Given the description of an element on the screen output the (x, y) to click on. 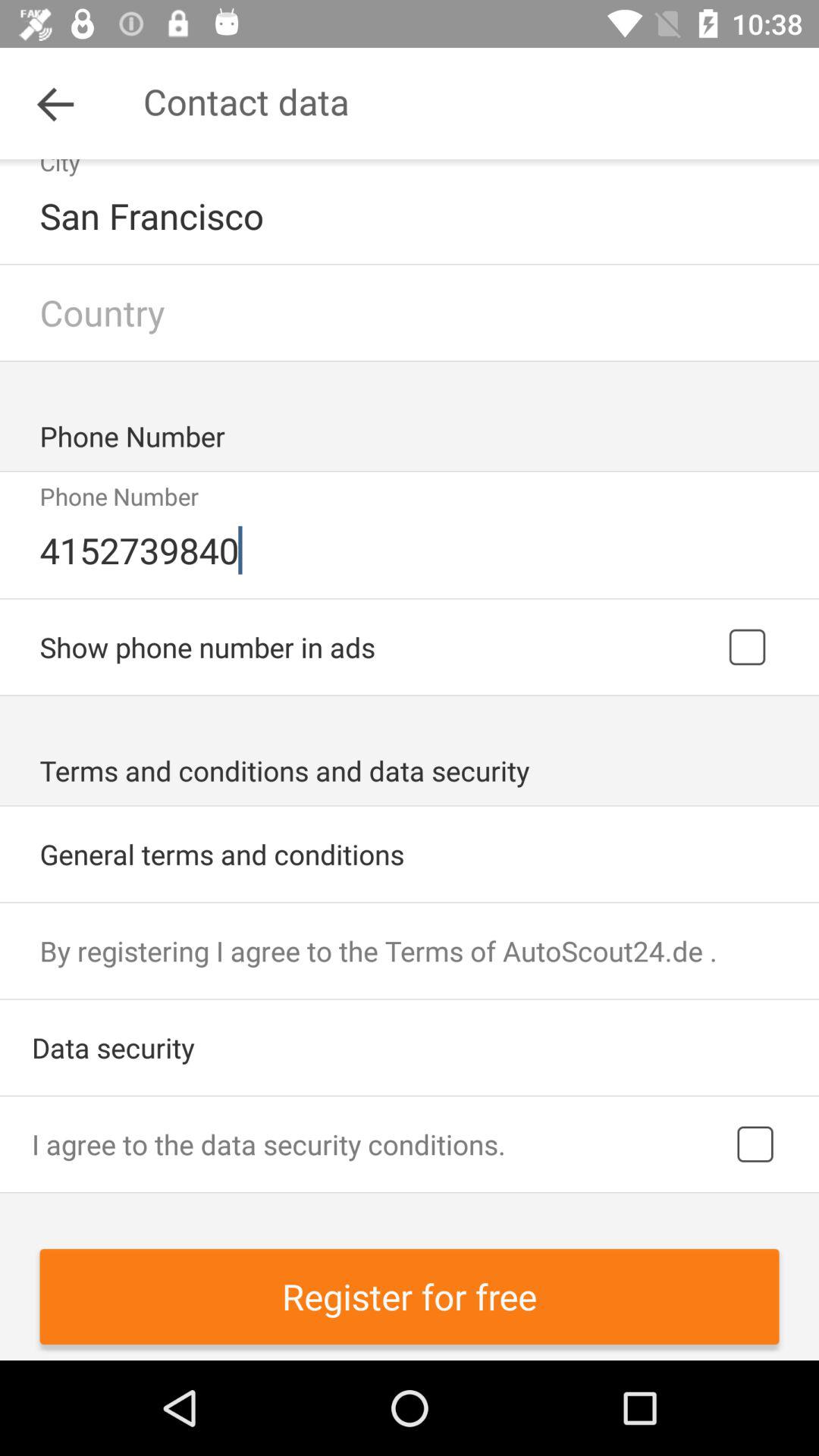
jump until the san francisco icon (411, 215)
